Given the description of an element on the screen output the (x, y) to click on. 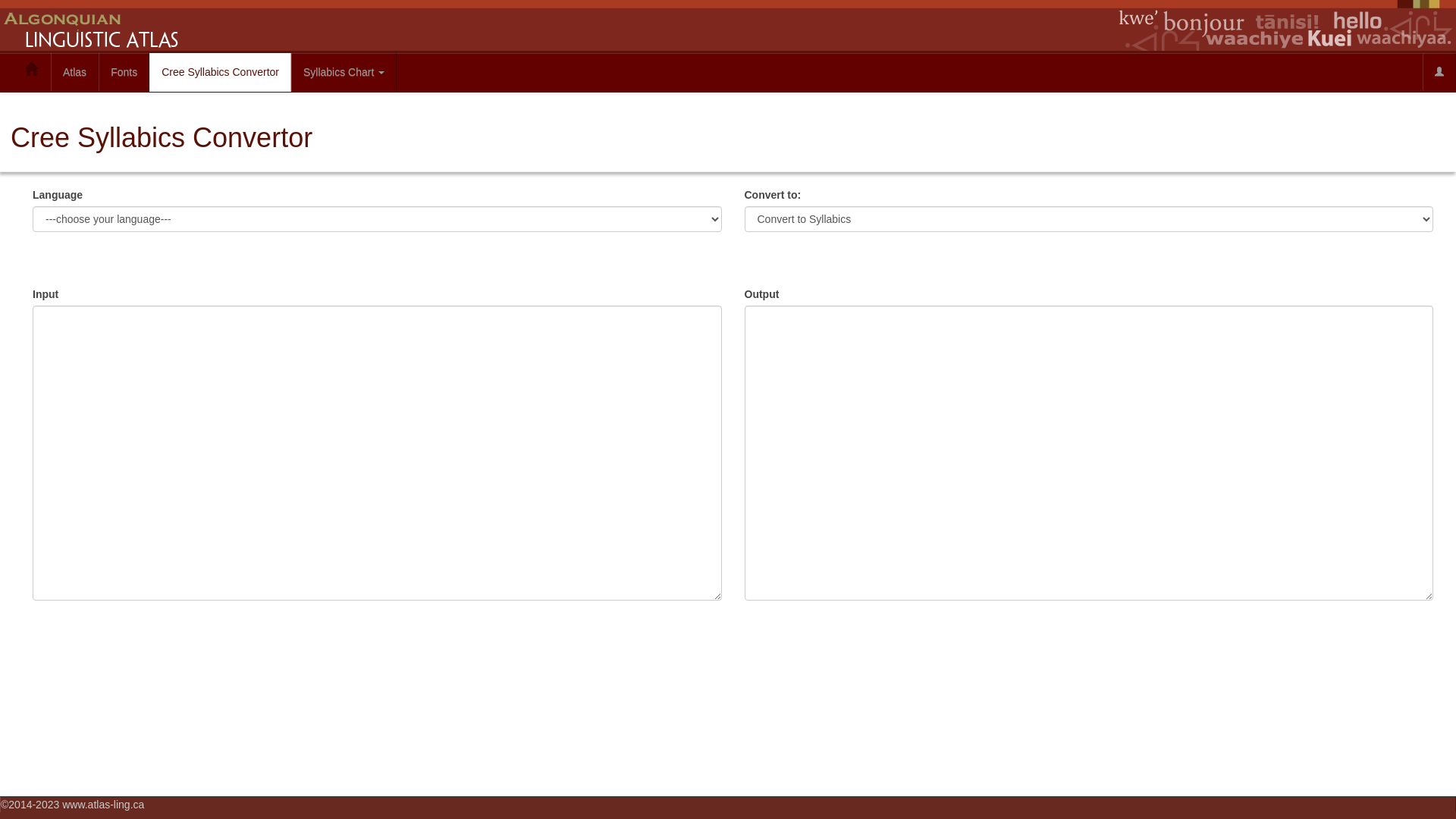
Cree Syllabics Convertor Element type: text (220, 72)
Syllabics Chart Element type: text (343, 72)
Fonts Element type: text (123, 72)
Atlas Element type: text (74, 72)
